Given the description of an element on the screen output the (x, y) to click on. 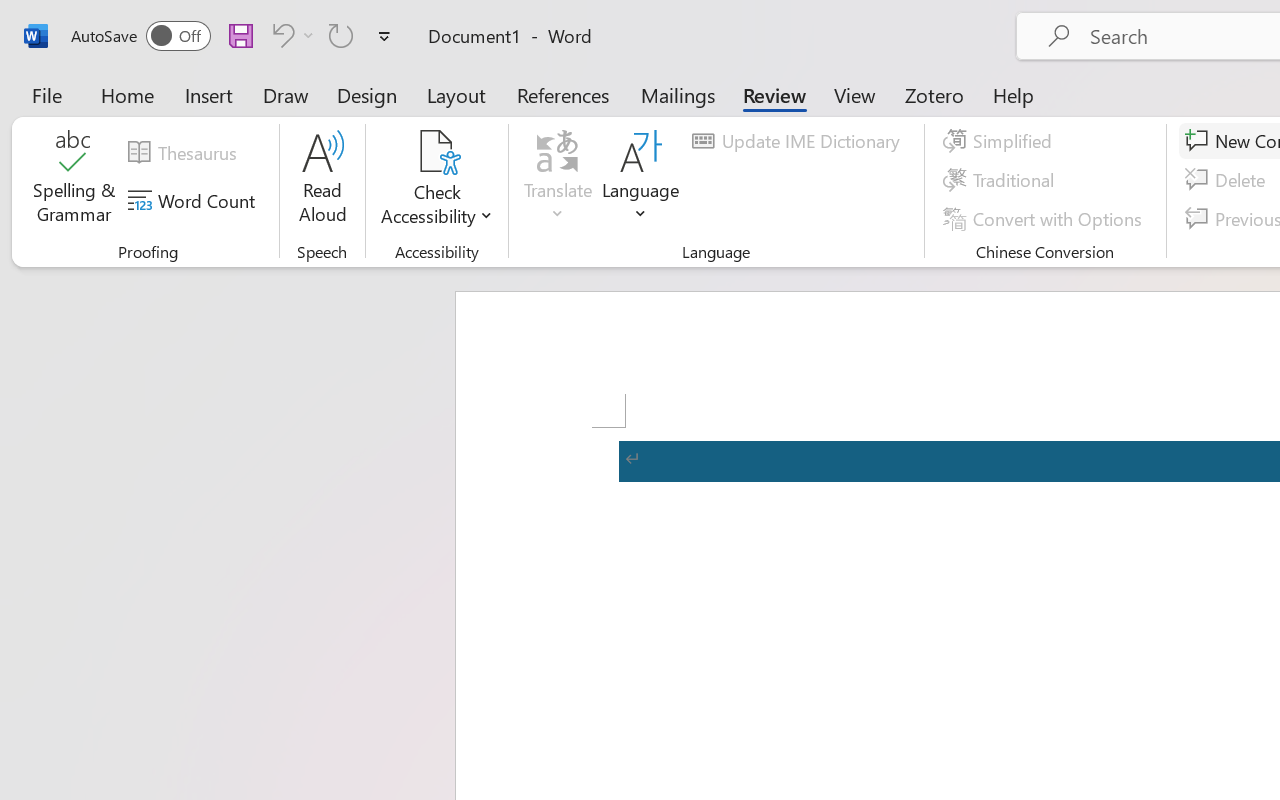
Undo Apply Quick Style Set (280, 35)
Traditional (1001, 179)
Thesaurus... (185, 153)
Delete (1227, 179)
Translate (558, 179)
Read Aloud (322, 179)
